Given the description of an element on the screen output the (x, y) to click on. 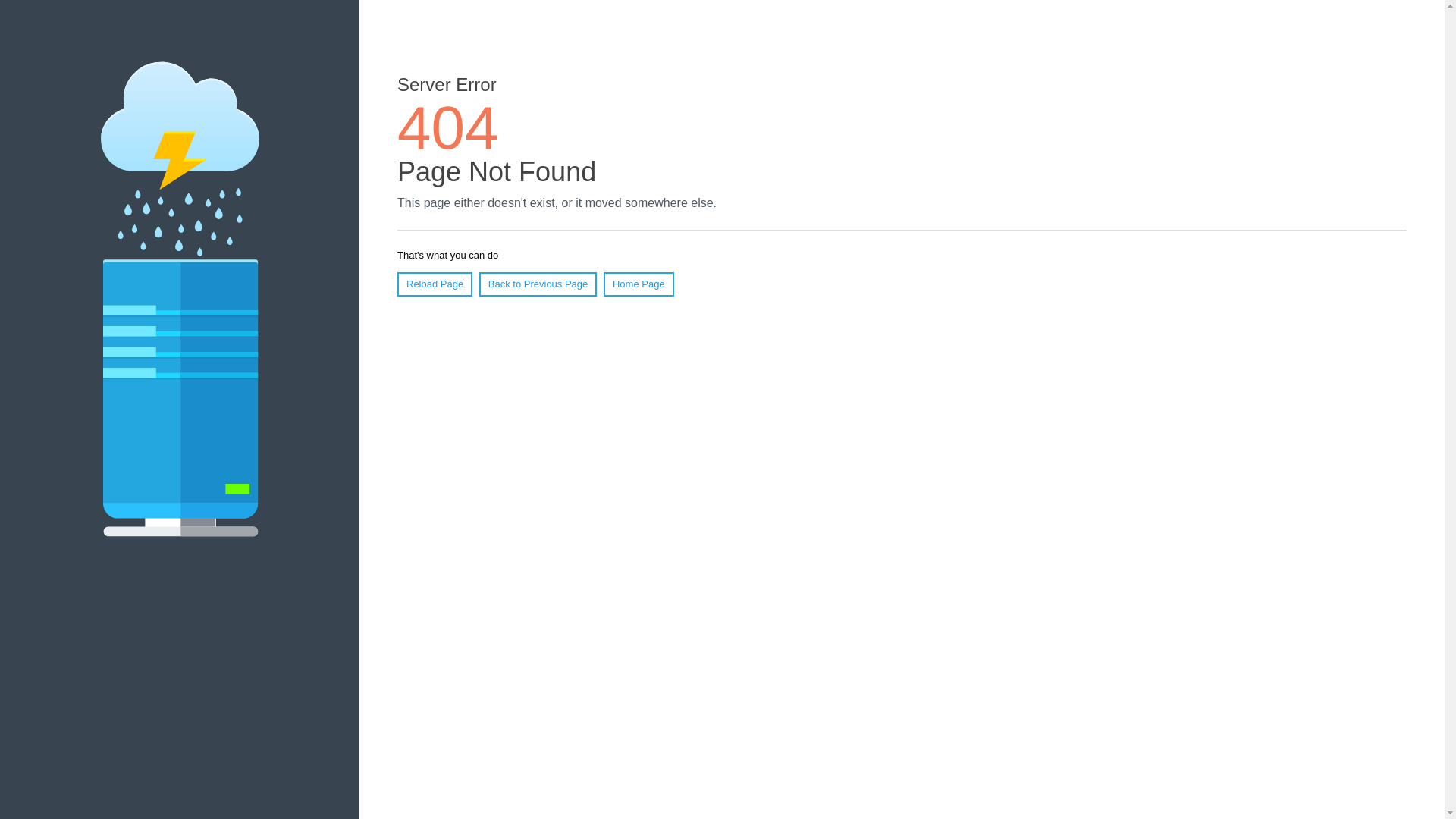
Home Page Element type: text (638, 284)
Reload Page Element type: text (434, 284)
Back to Previous Page Element type: text (538, 284)
